Given the description of an element on the screen output the (x, y) to click on. 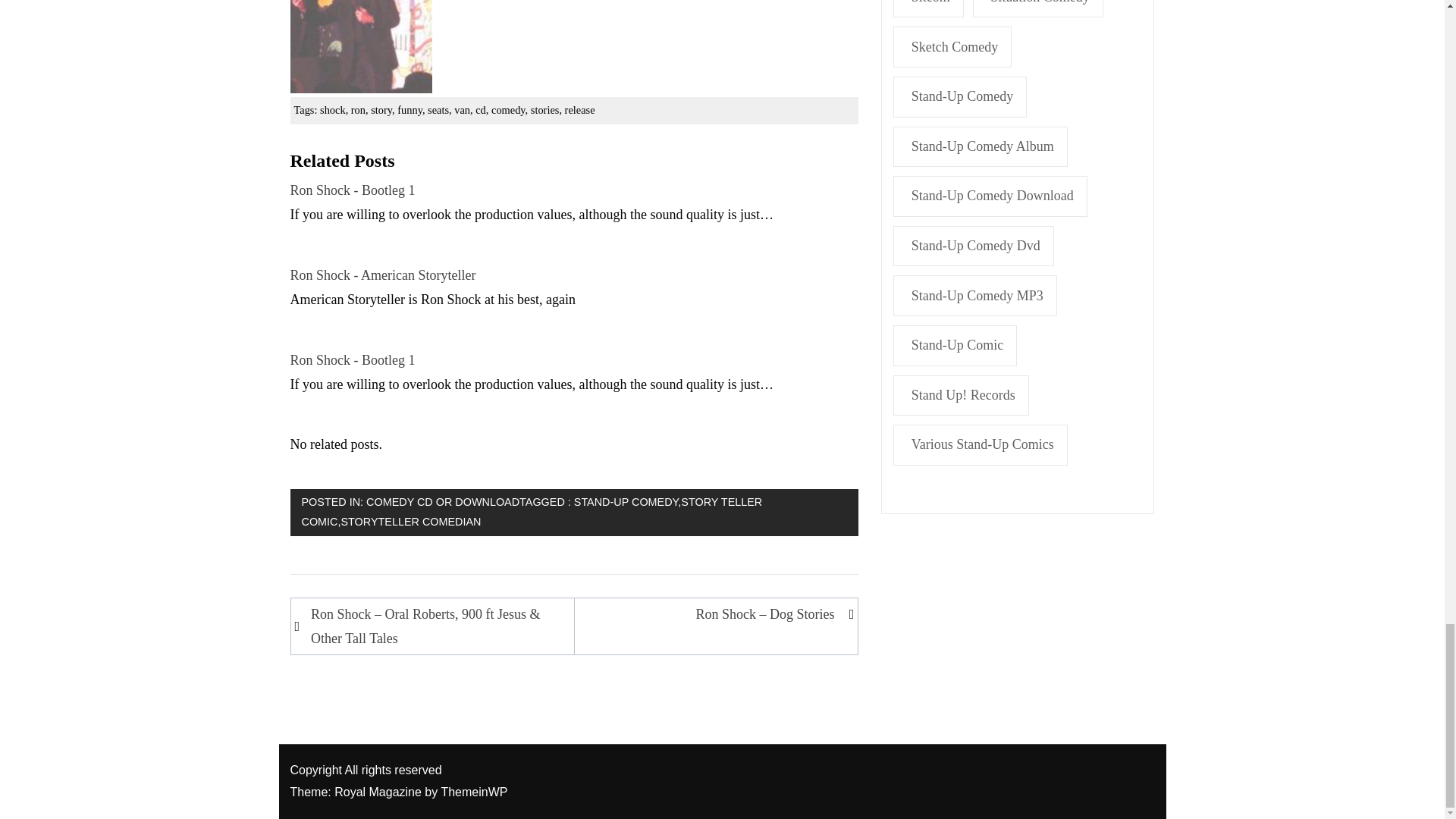
COMEDY CD OR DOWNLOAD (442, 501)
Ron Shock - Bootleg 1 (351, 190)
STORYTELLER COMEDIAN (410, 521)
STAND-UP COMEDY (625, 501)
Ron Shock - American Storyteller (382, 274)
STORY TELLER COMIC (531, 511)
Ron Shock - Bootleg 1 (351, 359)
Ron Shock - Bootleg 1 (359, 46)
